Given the description of an element on the screen output the (x, y) to click on. 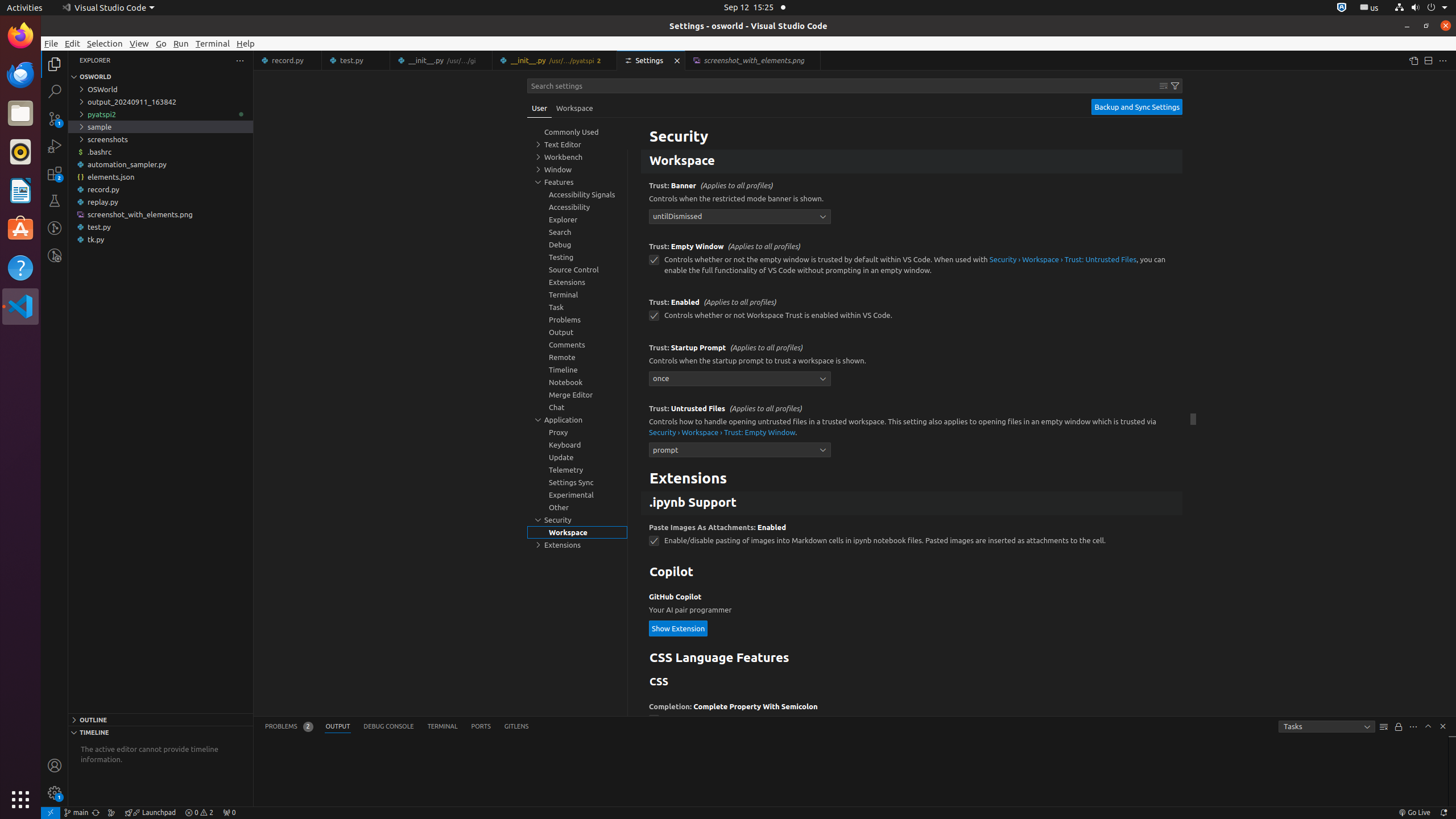
Clear Settings Search Input Element type: push-button (1163, 85)
Notebook, group Element type: tree-item (577, 381)
Terminal (Ctrl+`) Element type: page-tab (442, 726)
Accessibility Signals, group Element type: tree-item (577, 194)
.ipynb Support Element type: tree-item (911, 503)
